Given the description of an element on the screen output the (x, y) to click on. 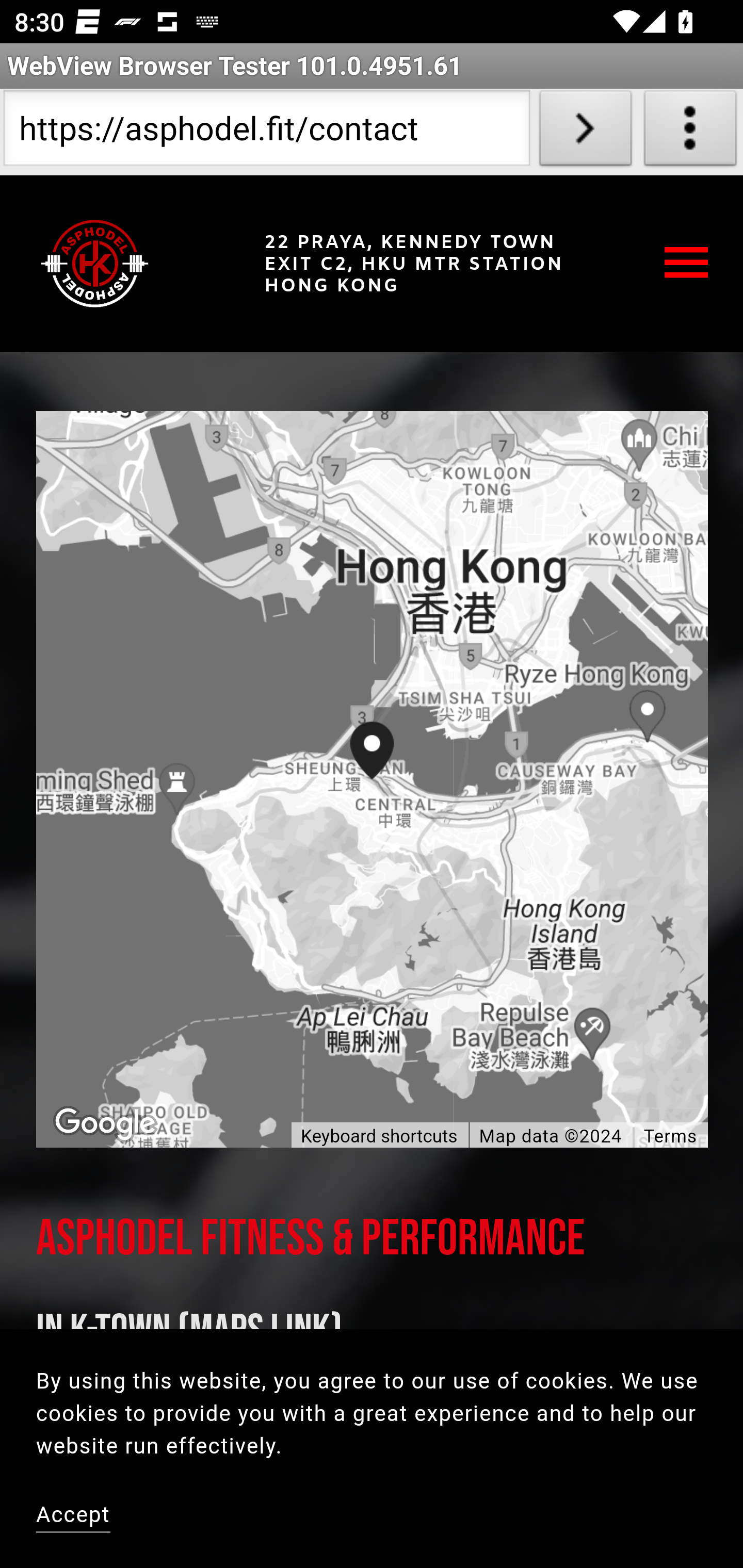
https://asphodel.fit/contact (266, 132)
Load URL (585, 132)
About WebView (690, 132)
Asphodel Fitness (95, 263)
Open navigation menu (686, 263)
Keyboard shortcuts (378, 1136)
Terms (670, 1135)
Accept (74, 1517)
